Given the description of an element on the screen output the (x, y) to click on. 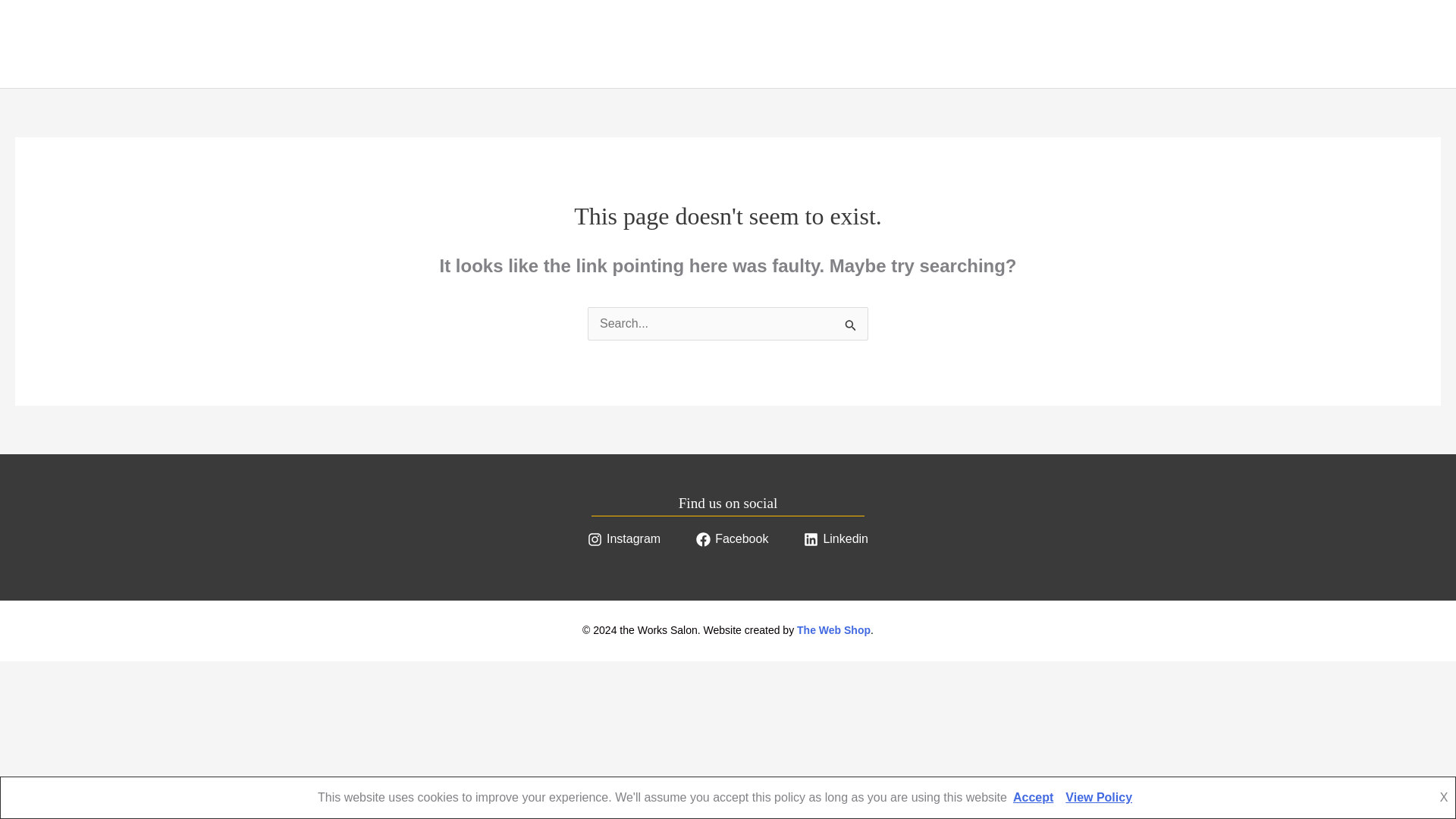
Search (850, 325)
Search (850, 325)
Search (850, 325)
CONTACT (401, 43)
GALLERY (318, 43)
The Web Shop (833, 630)
Linkedin (835, 538)
HAIR PRODUCTS (215, 43)
Facebook (731, 538)
Instagram (623, 538)
Website Design Ireland (833, 630)
